Given the description of an element on the screen output the (x, y) to click on. 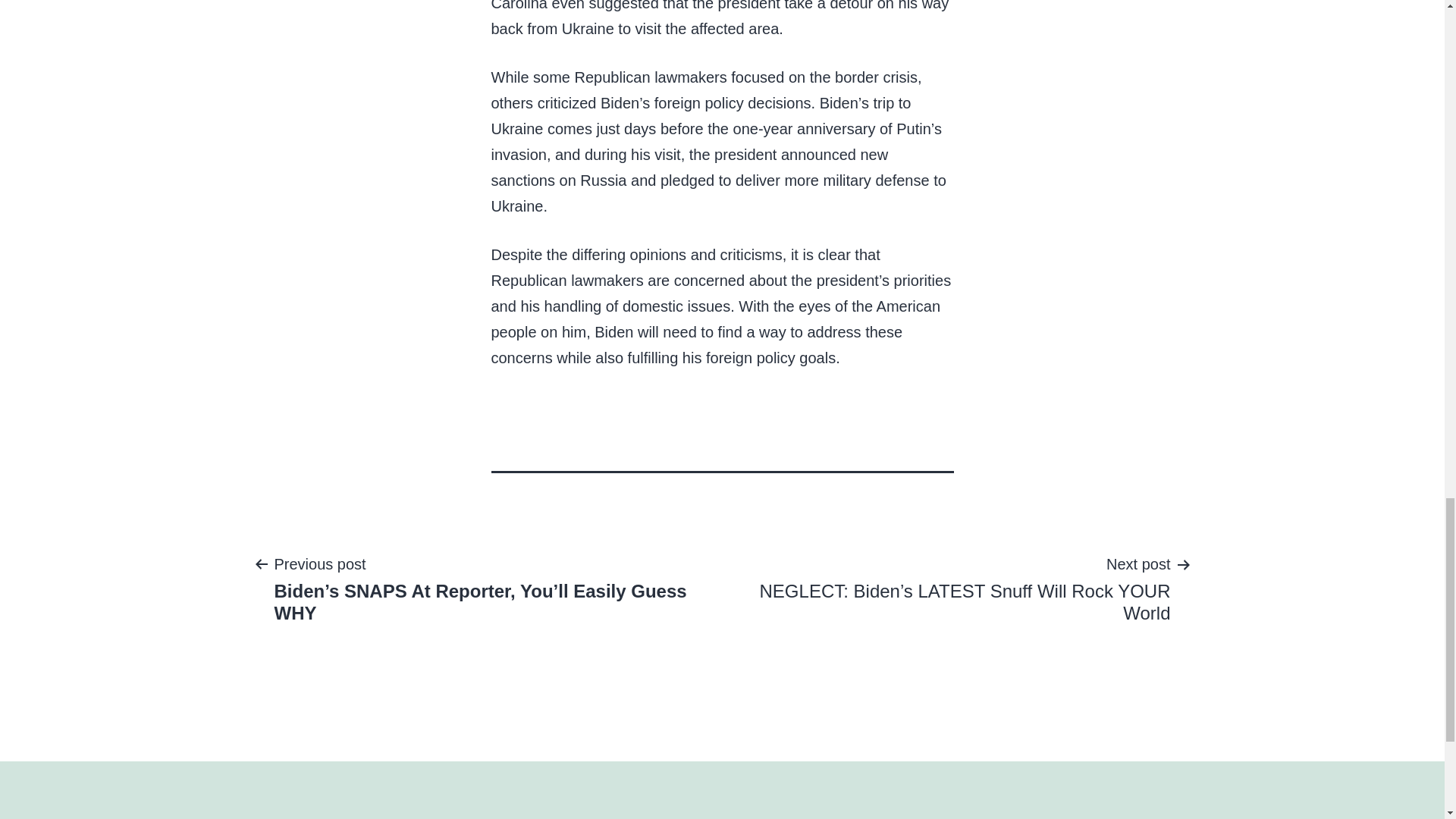
Terms Of Use (756, 812)
Privacy Policy (660, 812)
Contact Us (843, 812)
Home (586, 812)
